Given the description of an element on the screen output the (x, y) to click on. 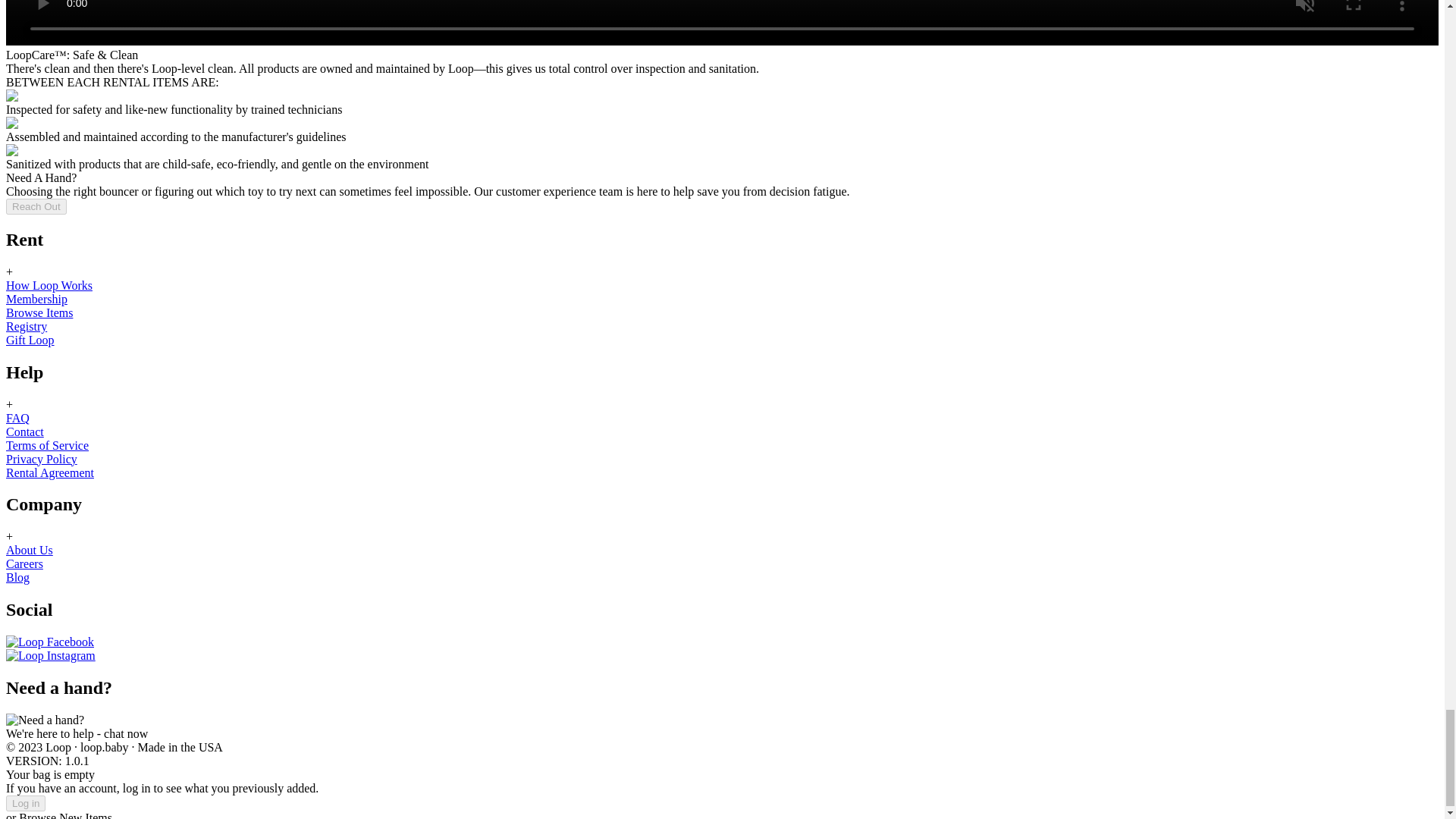
Contact (24, 431)
Blog (17, 576)
Registry (25, 326)
Careers (24, 563)
Membership (35, 298)
Browse Items (38, 312)
Reach Out (35, 206)
About Us (28, 549)
Rental Agreement (49, 472)
Privacy Policy (41, 458)
FAQ (17, 417)
Gift Loop (30, 339)
Log in (25, 803)
How Loop Works (49, 285)
Terms of Service (46, 444)
